Given the description of an element on the screen output the (x, y) to click on. 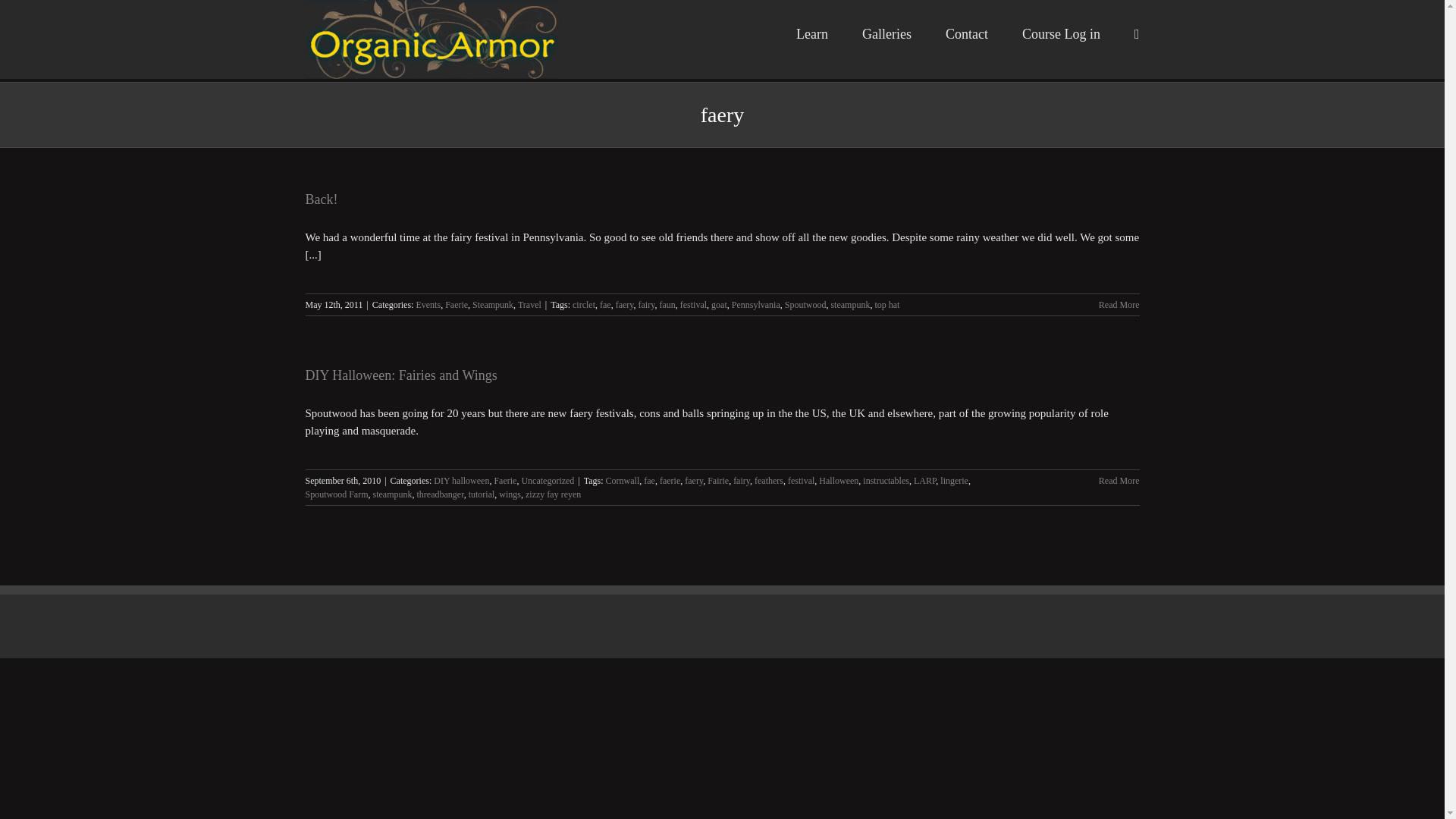
DIY halloween (461, 480)
Back! (320, 199)
Faerie (456, 304)
fae (605, 304)
steampunk (849, 304)
Events (427, 304)
Course Log in (1061, 32)
fae (649, 480)
Pennsylvania (756, 304)
Steampunk (492, 304)
